Given the description of an element on the screen output the (x, y) to click on. 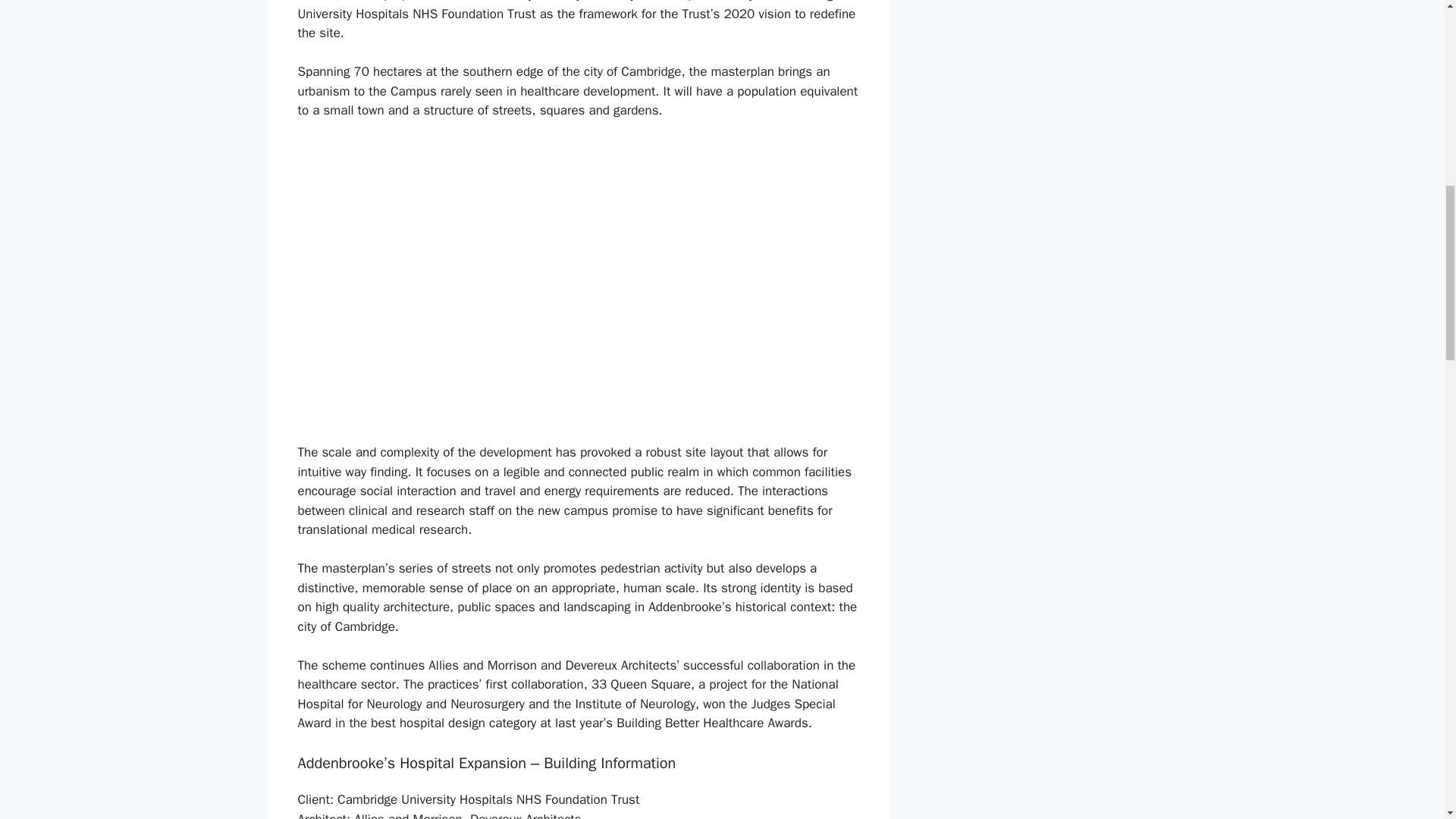
Scroll back to top (1406, 720)
